Given the description of an element on the screen output the (x, y) to click on. 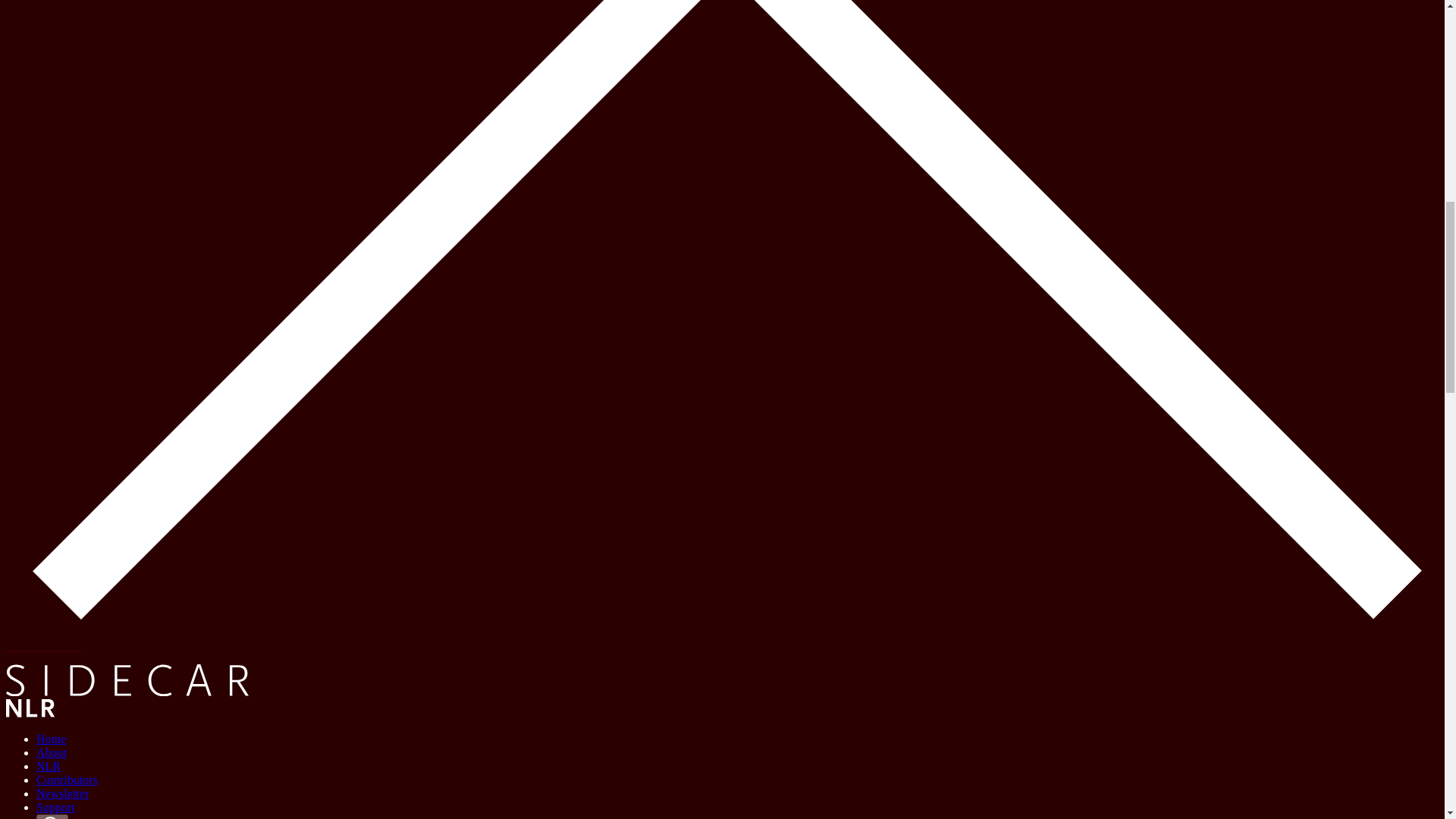
Home (50, 738)
Contributors (66, 779)
Support (55, 807)
NLR (48, 766)
About (51, 752)
Newsletter (62, 793)
